Given the description of an element on the screen output the (x, y) to click on. 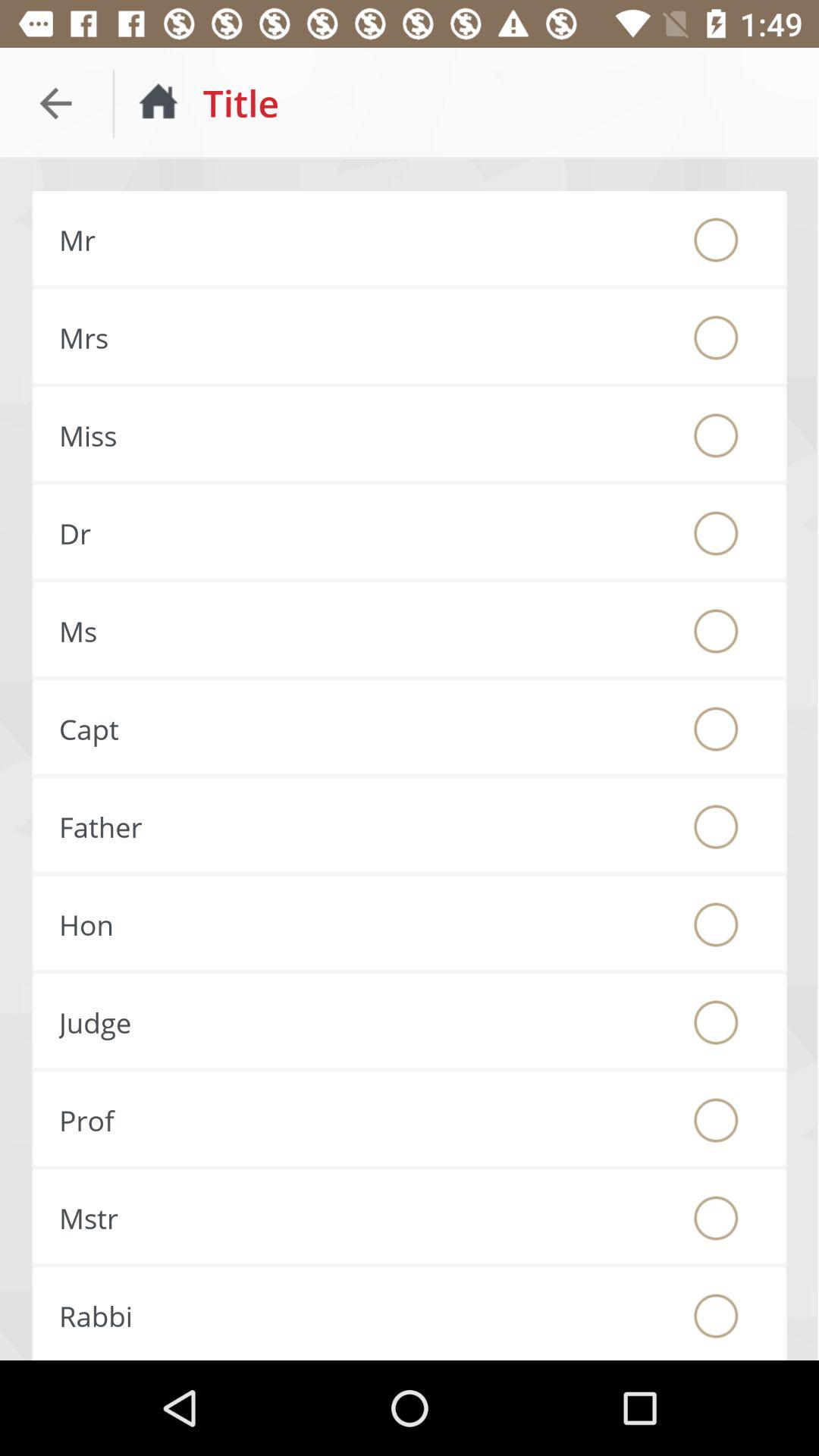
select mr option (715, 239)
